Given the description of an element on the screen output the (x, y) to click on. 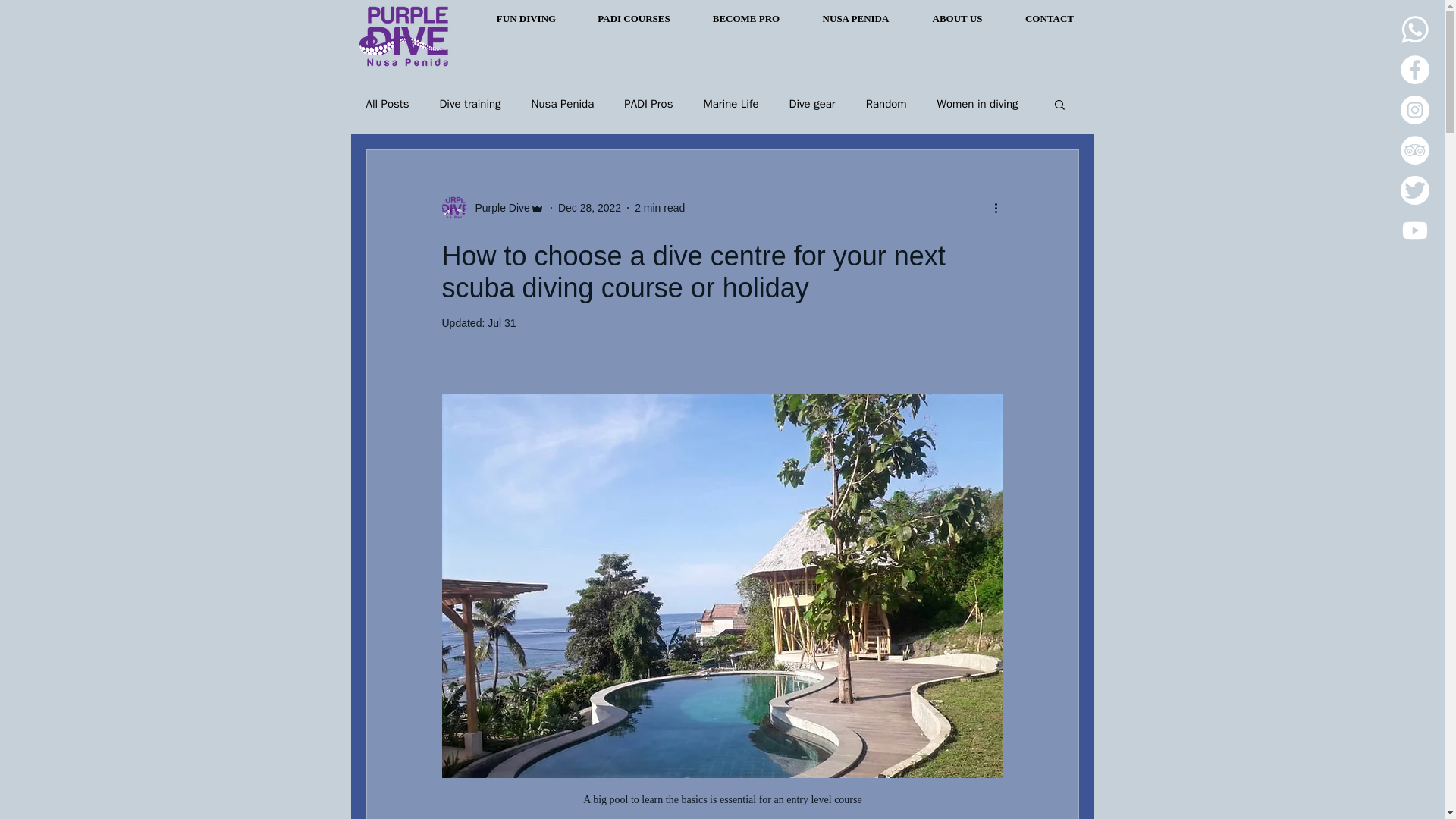
PADI COURSES (633, 18)
Jul 31 (501, 322)
Marine Life (730, 104)
All Posts (387, 104)
2 min read (659, 207)
PADI Pros (648, 104)
NUSA PENIDA (855, 18)
Dive training (469, 104)
BECOME PRO (745, 18)
Purple Dive (497, 207)
